Given the description of an element on the screen output the (x, y) to click on. 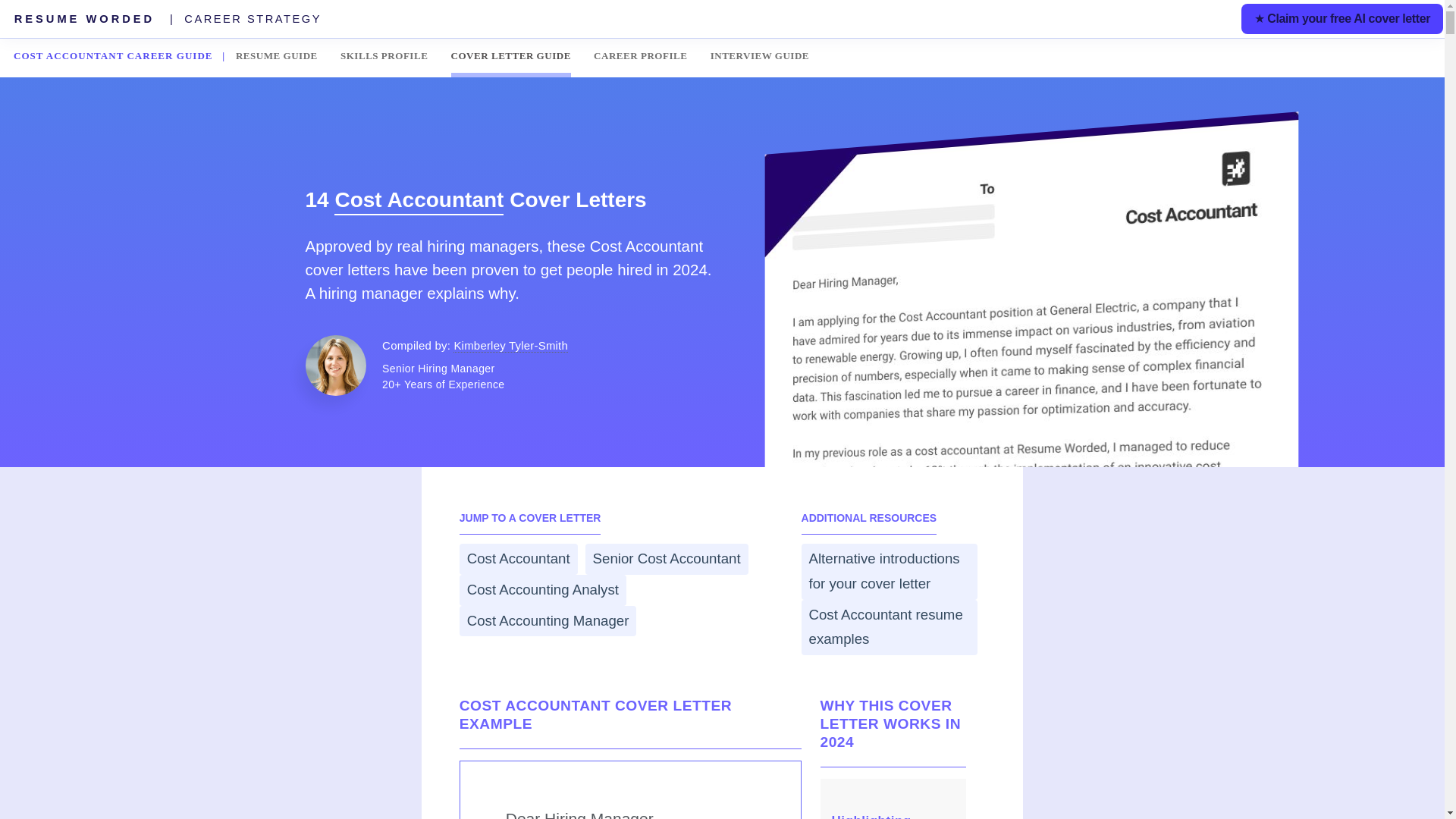
Cost Accountant (519, 558)
SKILLS PROFILE (384, 55)
CAREER PROFILE (640, 55)
Kimberley Tyler-Smith (509, 345)
Cost Accountant resume examples (890, 627)
Senior Cost Accountant (666, 558)
Cost Accounting Manager (548, 621)
INTERVIEW GUIDE (759, 55)
Alternative introductions for your cover letter (890, 570)
RESUME GUIDE (276, 55)
